Given the description of an element on the screen output the (x, y) to click on. 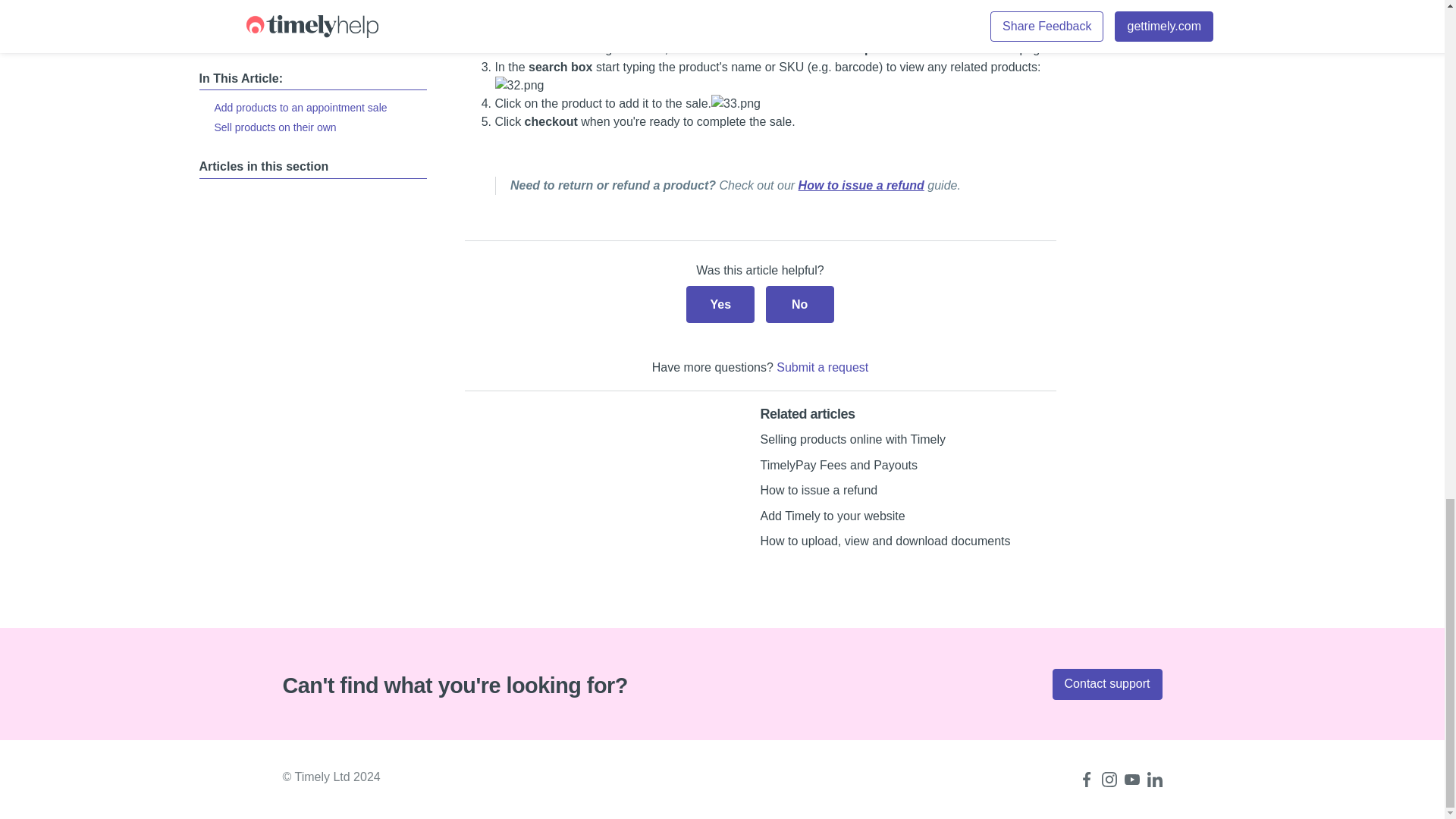
Add Timely to your website (832, 515)
Yes (719, 303)
TimelyPay Fees and Payouts (838, 464)
No (799, 303)
Selling products online with Timely (852, 439)
Submit a request (821, 367)
How to upload, view and download documents (885, 540)
Contact support (1106, 684)
How to issue a refund (860, 185)
How to issue a refund (818, 490)
